Given the description of an element on the screen output the (x, y) to click on. 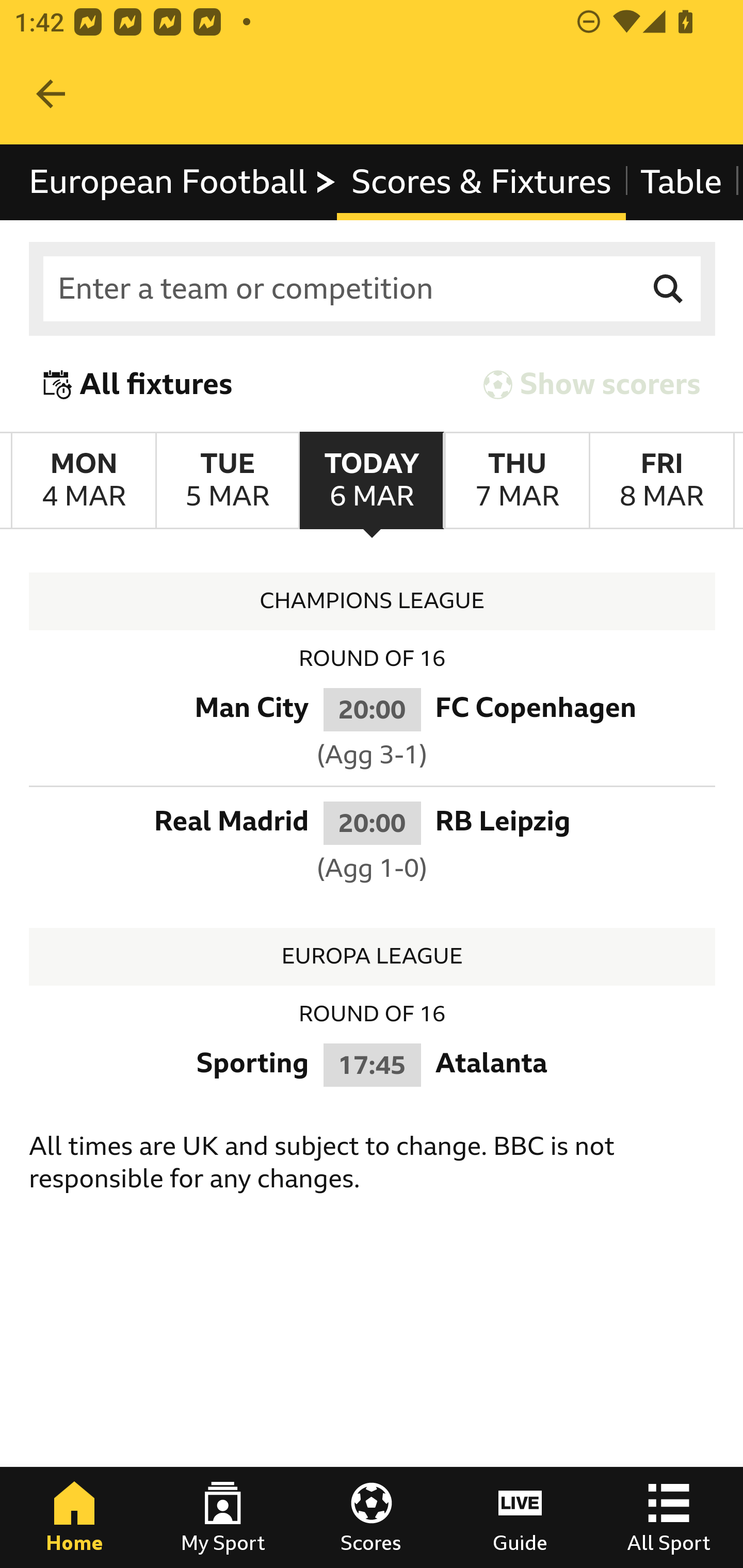
Navigate up (50, 93)
European Football  (182, 181)
Scores & Fixtures (480, 181)
Table (681, 181)
Search (669, 289)
All fixtures (137, 383)
Show scorers (591, 383)
MondayMarch 4th Monday March 4th (83, 480)
TuesdayMarch 5th Tuesday March 5th (227, 480)
ThursdayMarch 7th Thursday March 7th (516, 480)
FridayMarch 8th Friday March 8th (661, 480)
My Sport (222, 1517)
Scores (371, 1517)
Guide (519, 1517)
All Sport (668, 1517)
